Given the description of an element on the screen output the (x, y) to click on. 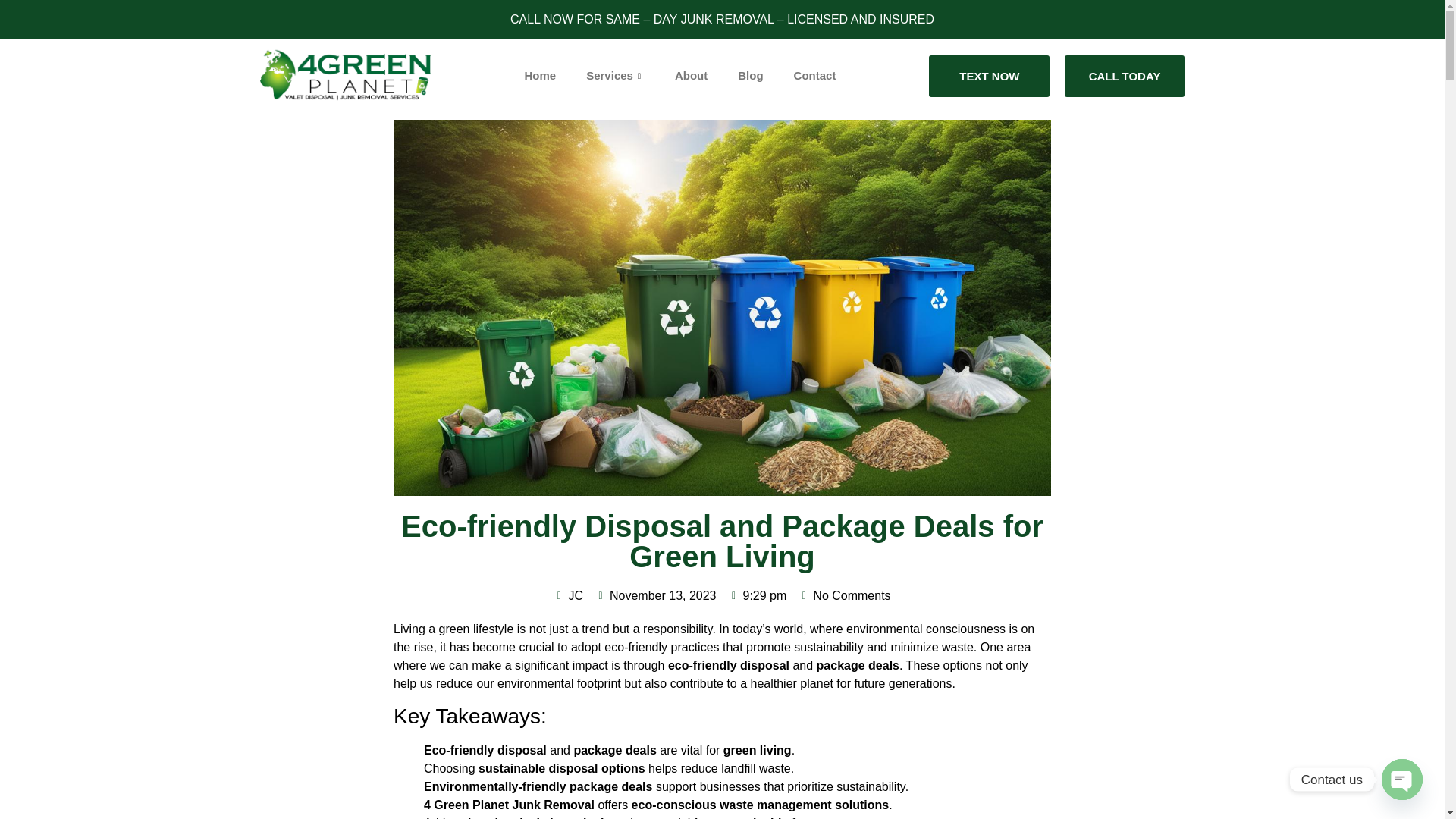
Contact (814, 75)
No Comments (843, 596)
Services (614, 75)
TEXT NOW (988, 76)
About (690, 75)
Blog (749, 75)
JC (568, 596)
November 13, 2023 (655, 596)
Home (540, 75)
CALL TODAY (1124, 76)
